Given the description of an element on the screen output the (x, y) to click on. 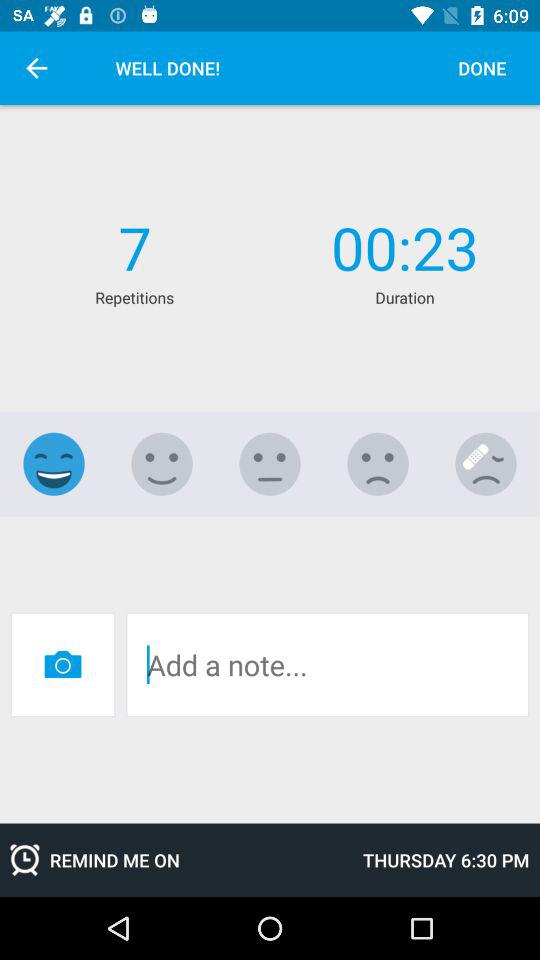
select sad rating (378, 463)
